Given the description of an element on the screen output the (x, y) to click on. 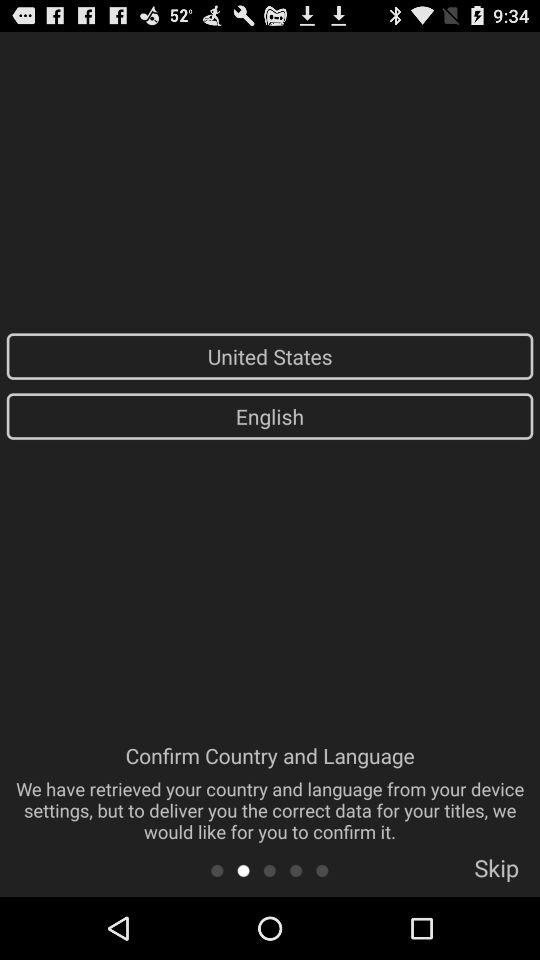
choose app at the bottom right corner (496, 873)
